Given the description of an element on the screen output the (x, y) to click on. 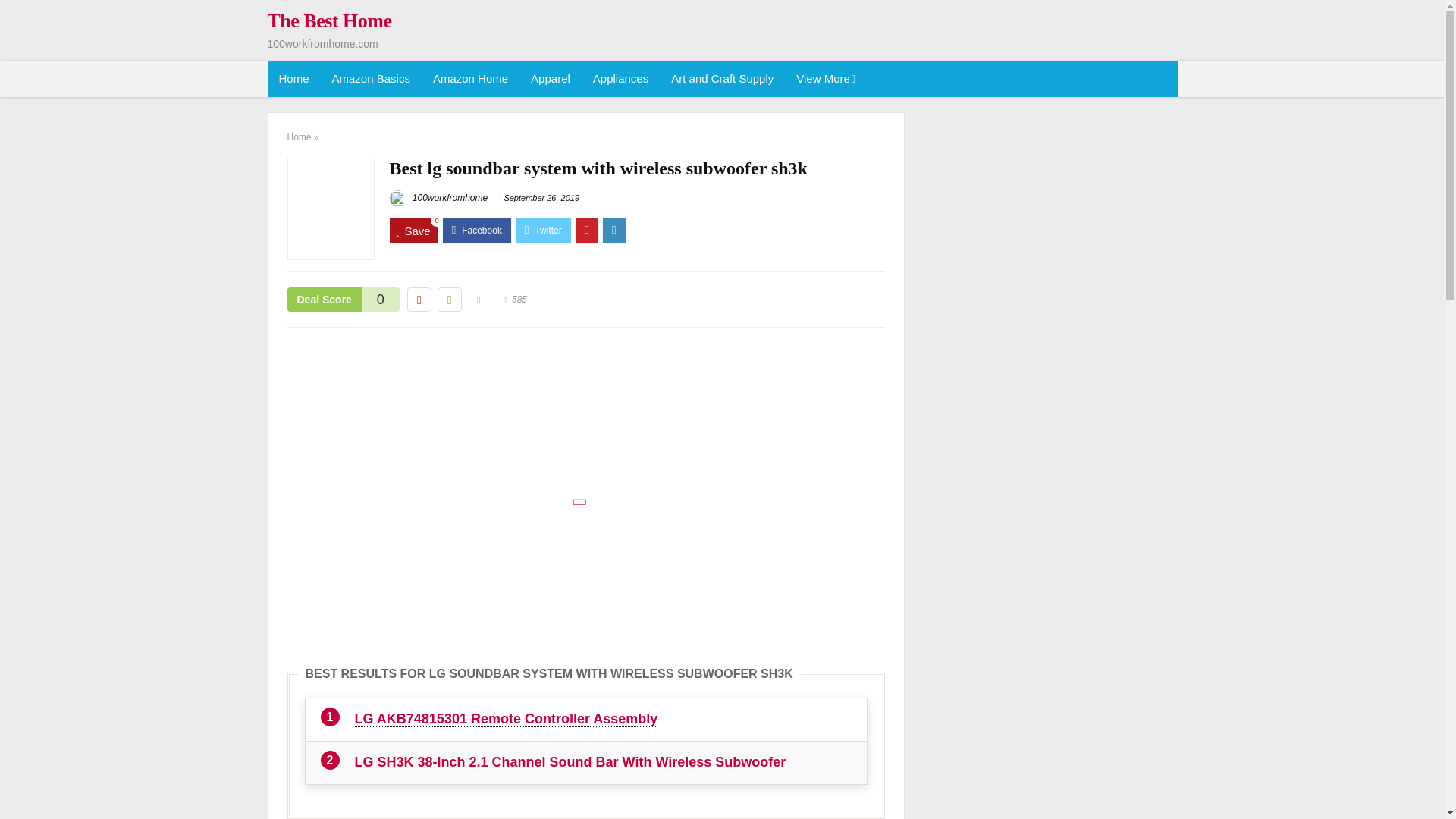
Art and Craft Supply (721, 78)
View More (823, 78)
Amazon Basics (371, 78)
Amazon Home (470, 78)
Home (293, 78)
Apparel (549, 78)
Vote down (418, 299)
Appliances (619, 78)
